Given the description of an element on the screen output the (x, y) to click on. 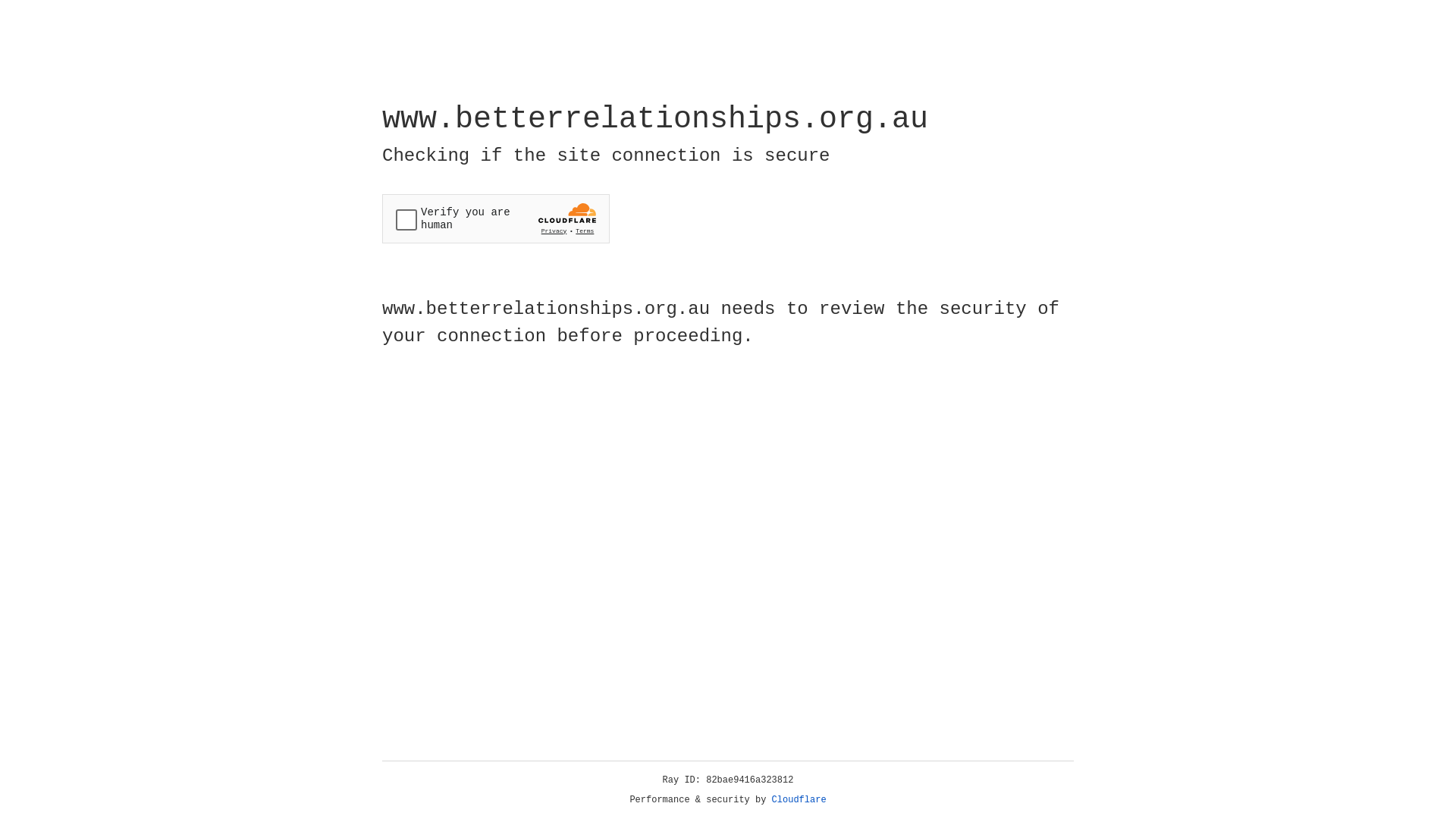
Widget containing a Cloudflare security challenge Element type: hover (495, 218)
Cloudflare Element type: text (798, 799)
